Given the description of an element on the screen output the (x, y) to click on. 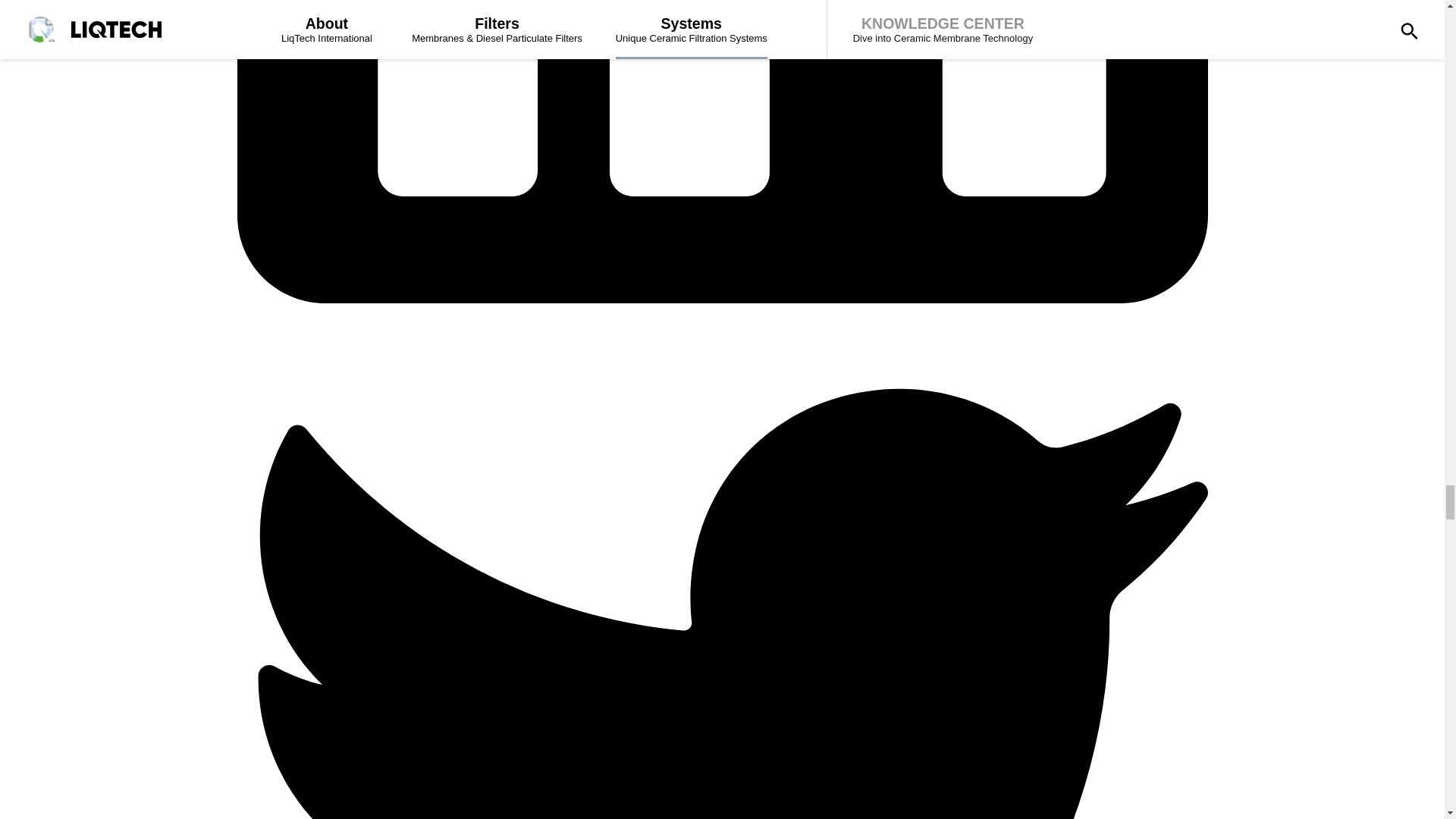
LinkedIn (721, 298)
